Given the description of an element on the screen output the (x, y) to click on. 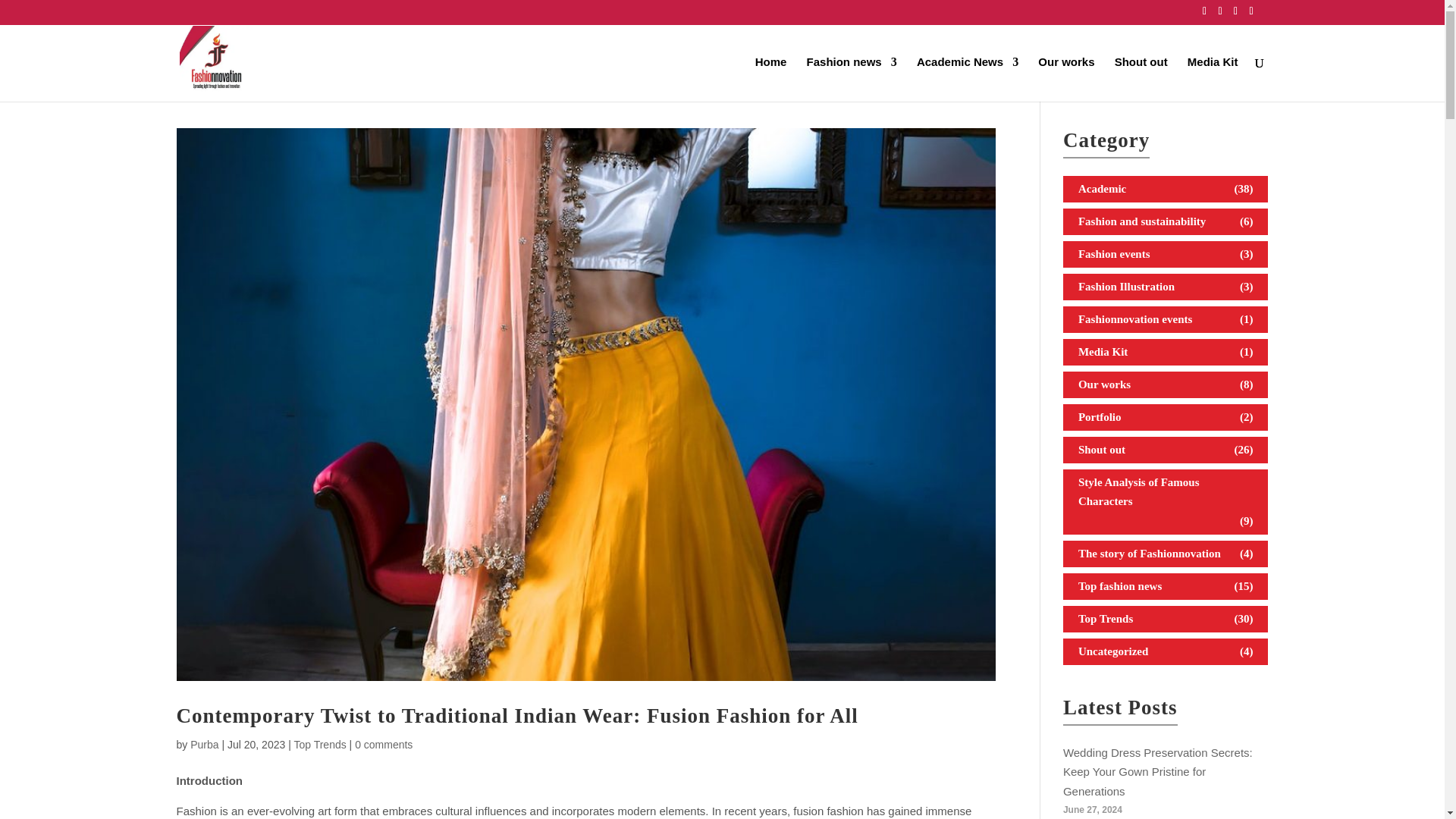
Shout out (1141, 78)
Media Kit (1213, 78)
Academic News (967, 78)
Top Trends (320, 744)
Posts by Purba (204, 744)
Purba (204, 744)
Fashion news (851, 78)
Our works (1066, 78)
0 comments (383, 744)
